Given the description of an element on the screen output the (x, y) to click on. 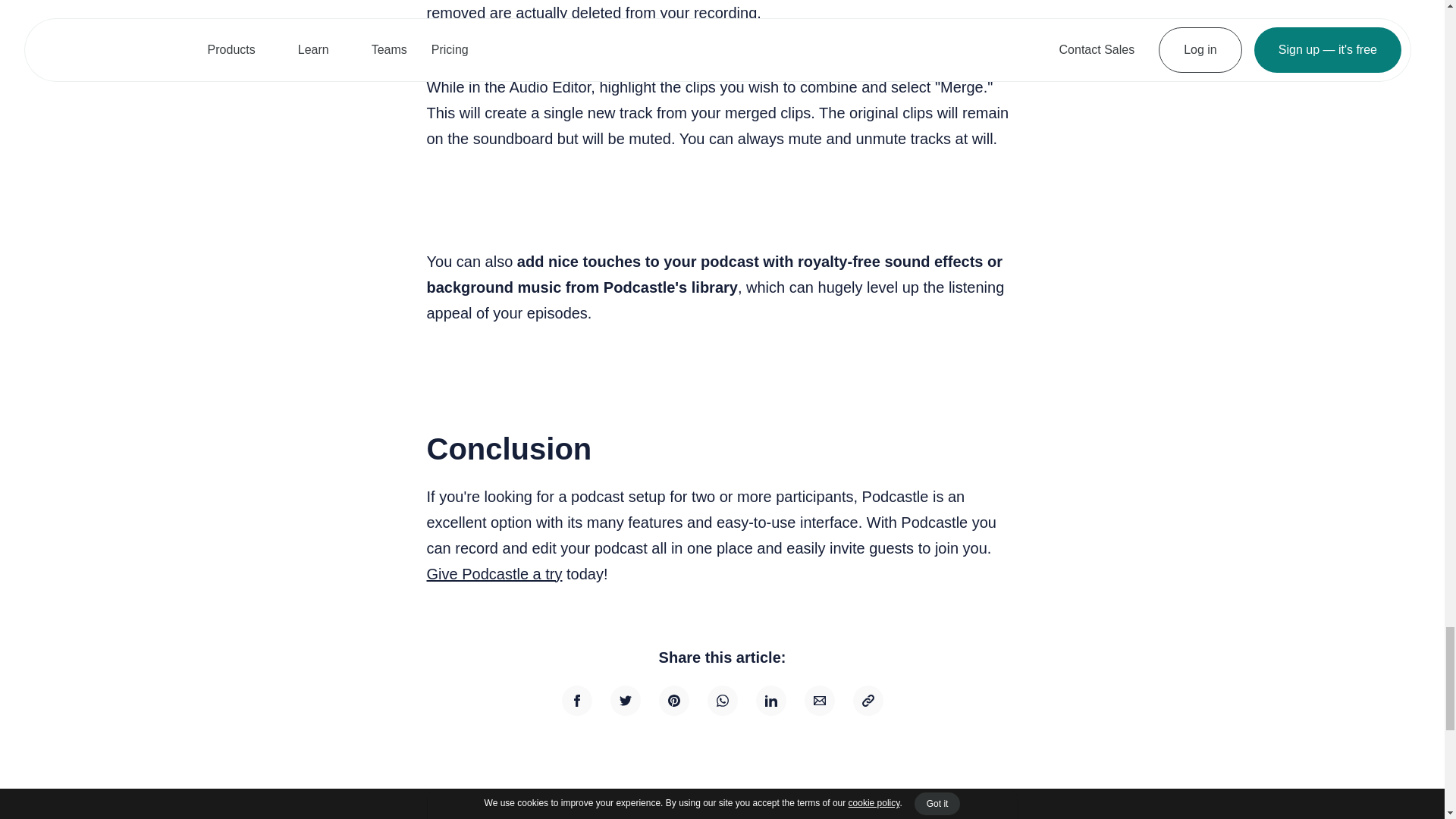
Share on Linkedin (770, 700)
Share on Twitter (625, 700)
Give Podcastle a try (494, 573)
Share on Pinterest (673, 700)
Copy the permalink (866, 700)
Share on Whatsapp (721, 700)
Share on Facebook (575, 700)
Send via email (818, 700)
